Given the description of an element on the screen output the (x, y) to click on. 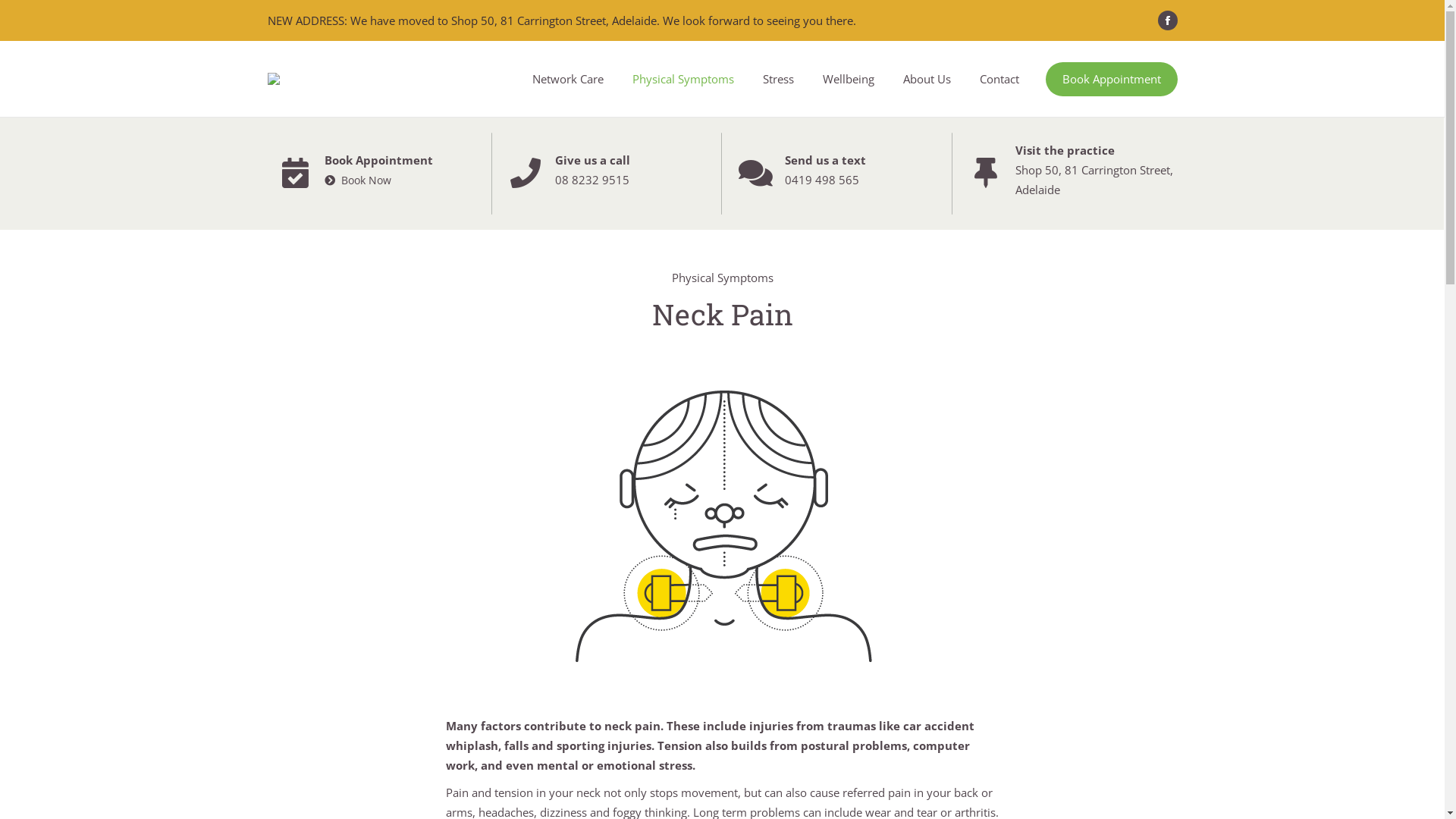
Book Now Element type: text (357, 180)
Book Appointment Element type: text (1110, 79)
Network Care Element type: text (566, 78)
About Us Element type: text (926, 78)
Physical Symptoms Element type: text (682, 78)
Facebook page opens in new window Element type: text (1166, 20)
Contact Element type: text (998, 78)
Stress Element type: text (777, 78)
Wellbeing Element type: text (848, 78)
Lifewise-Network-Care-Chiropractic-Adelaide-10 Element type: hover (721, 522)
